Given the description of an element on the screen output the (x, y) to click on. 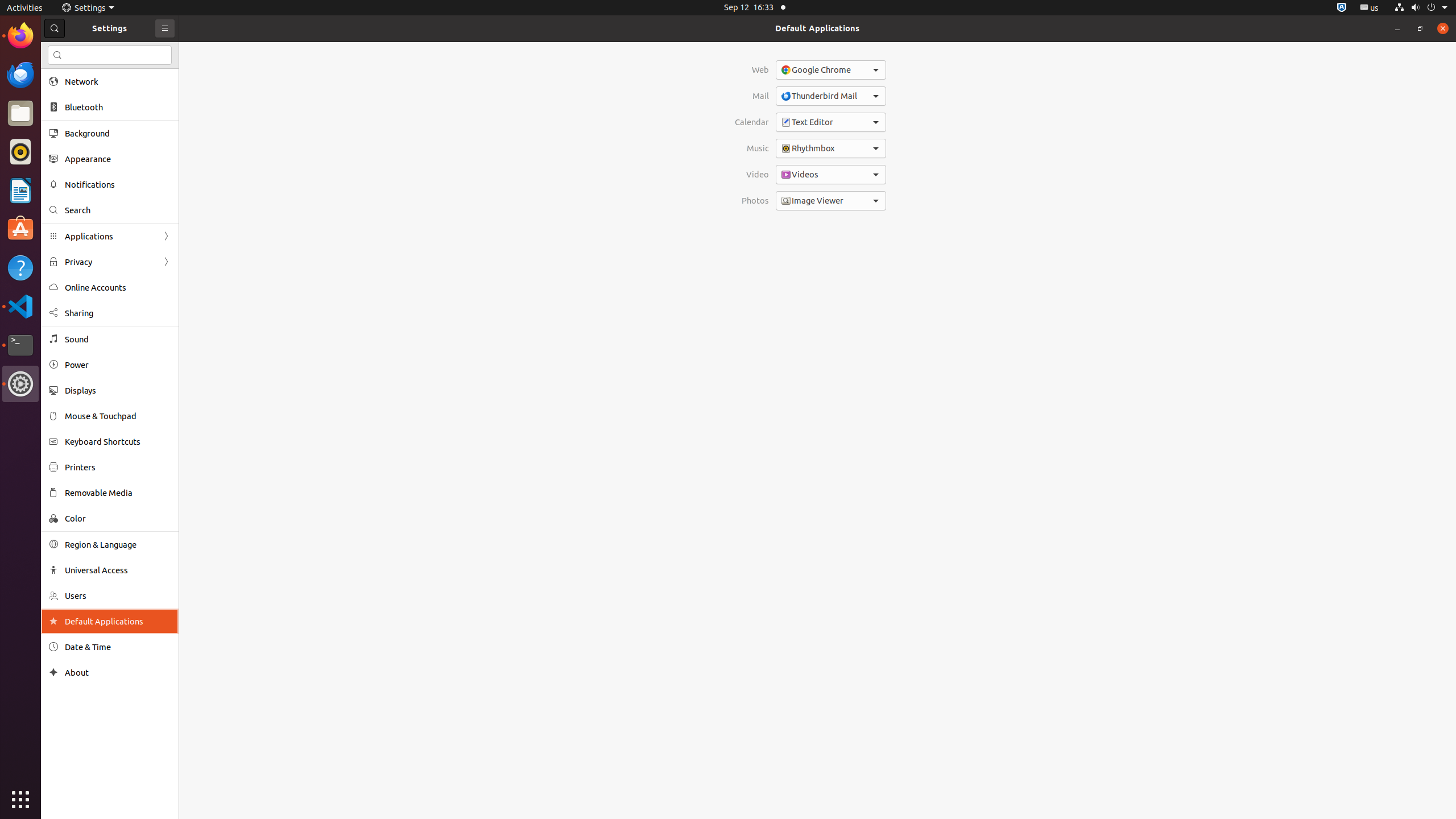
Sound Element type: label (117, 339)
